Given the description of an element on the screen output the (x, y) to click on. 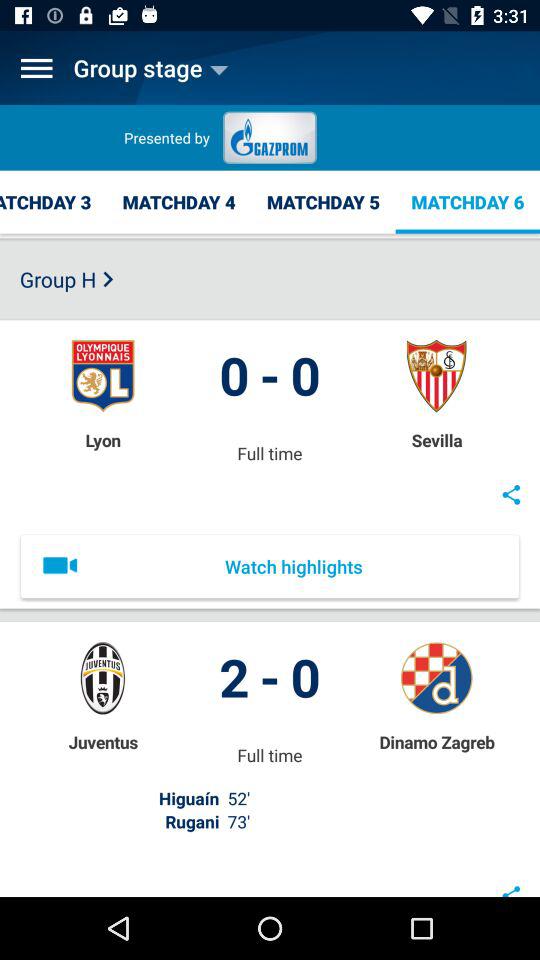
quick setting box (36, 68)
